Given the description of an element on the screen output the (x, y) to click on. 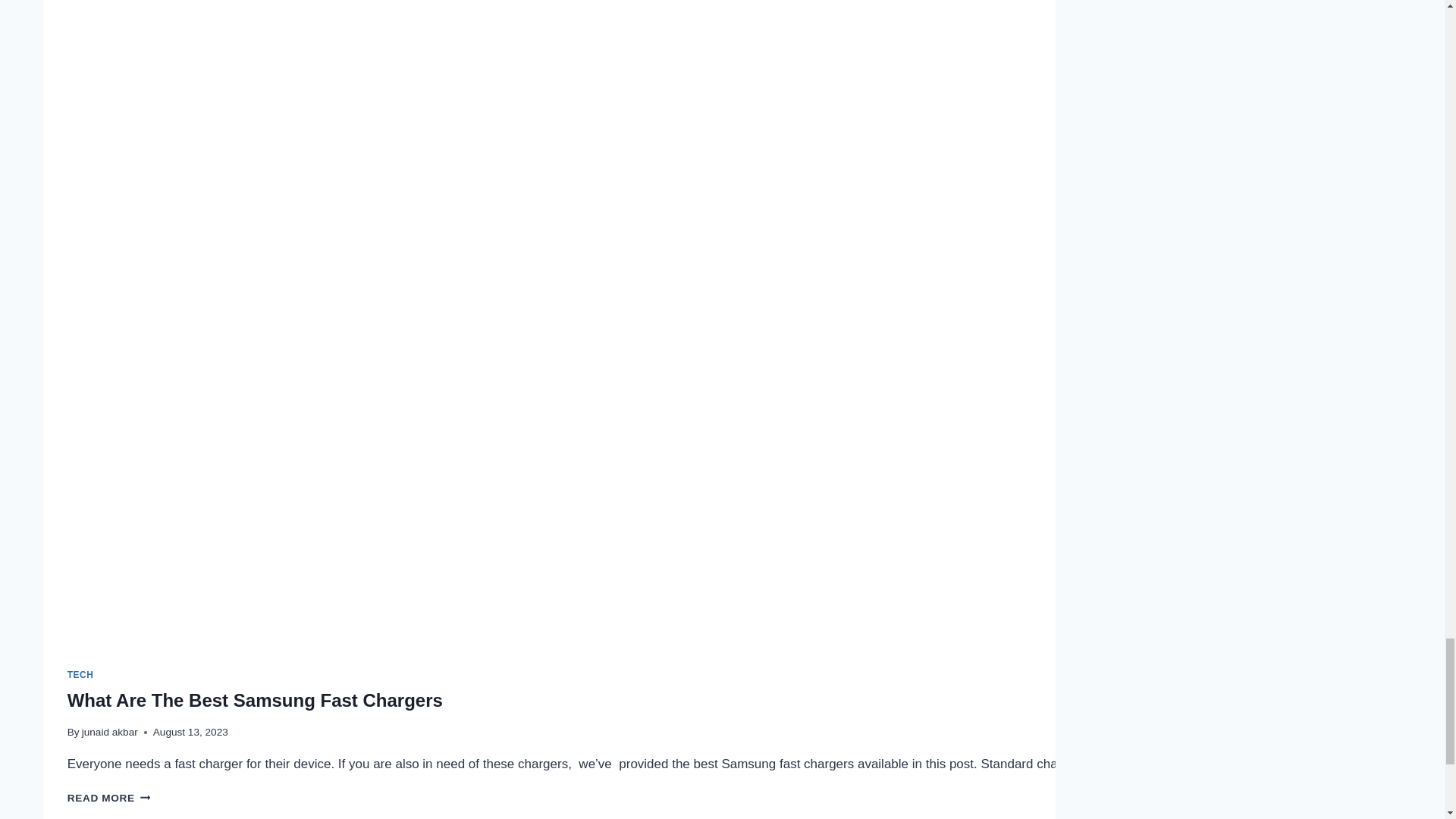
What Are The Best Samsung Fast Chargers (254, 700)
TECH (108, 797)
junaid akbar (80, 674)
